Given the description of an element on the screen output the (x, y) to click on. 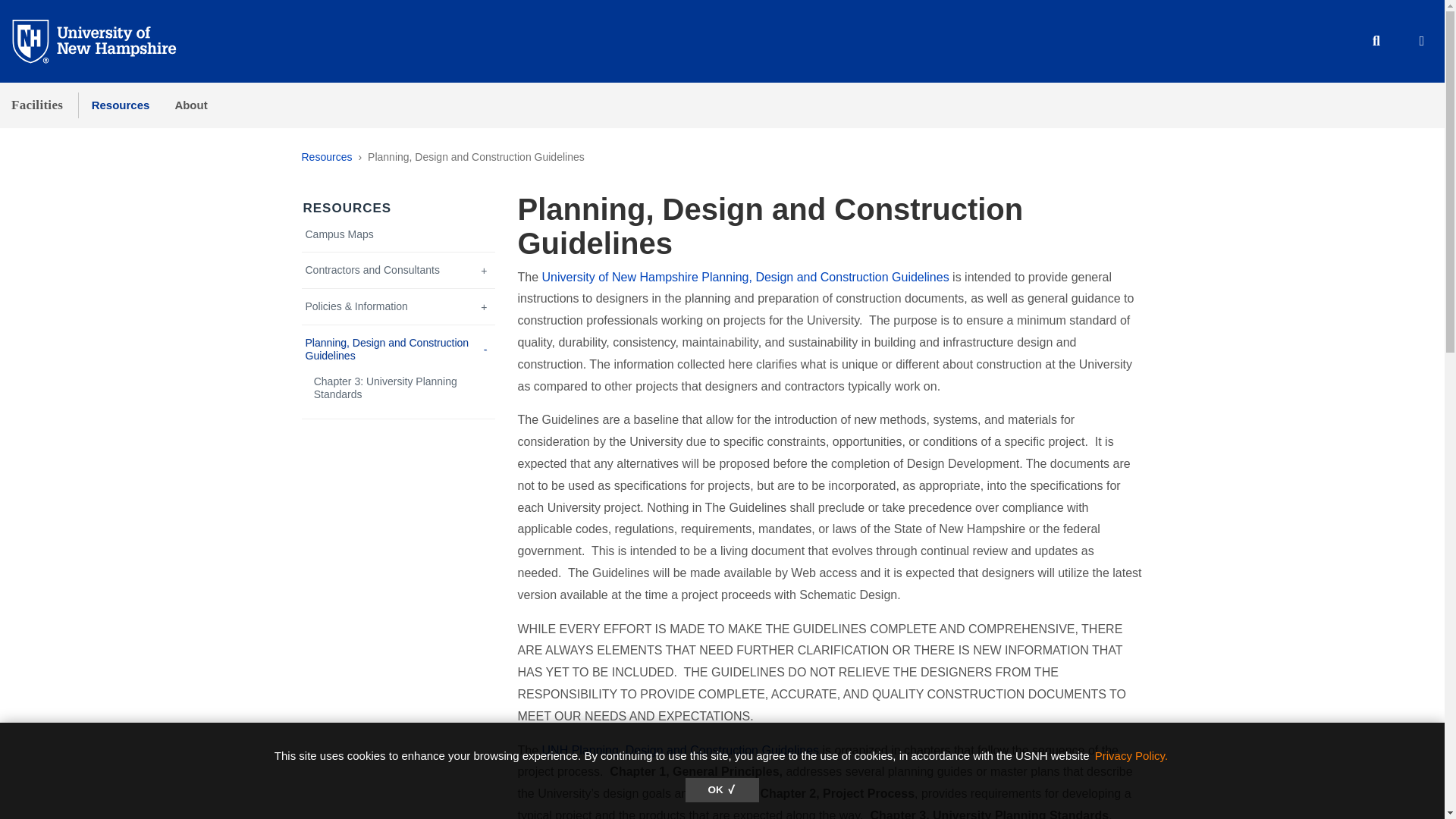
RESOURCES (346, 207)
Resources (326, 156)
Campus Maps (399, 234)
Facilities (36, 104)
Resources (119, 104)
Planning, Design and Construction Guidelines (399, 349)
Privacy Policy. (1131, 755)
UNH Planning, Design and Construction Guidelines (680, 748)
